Given the description of an element on the screen output the (x, y) to click on. 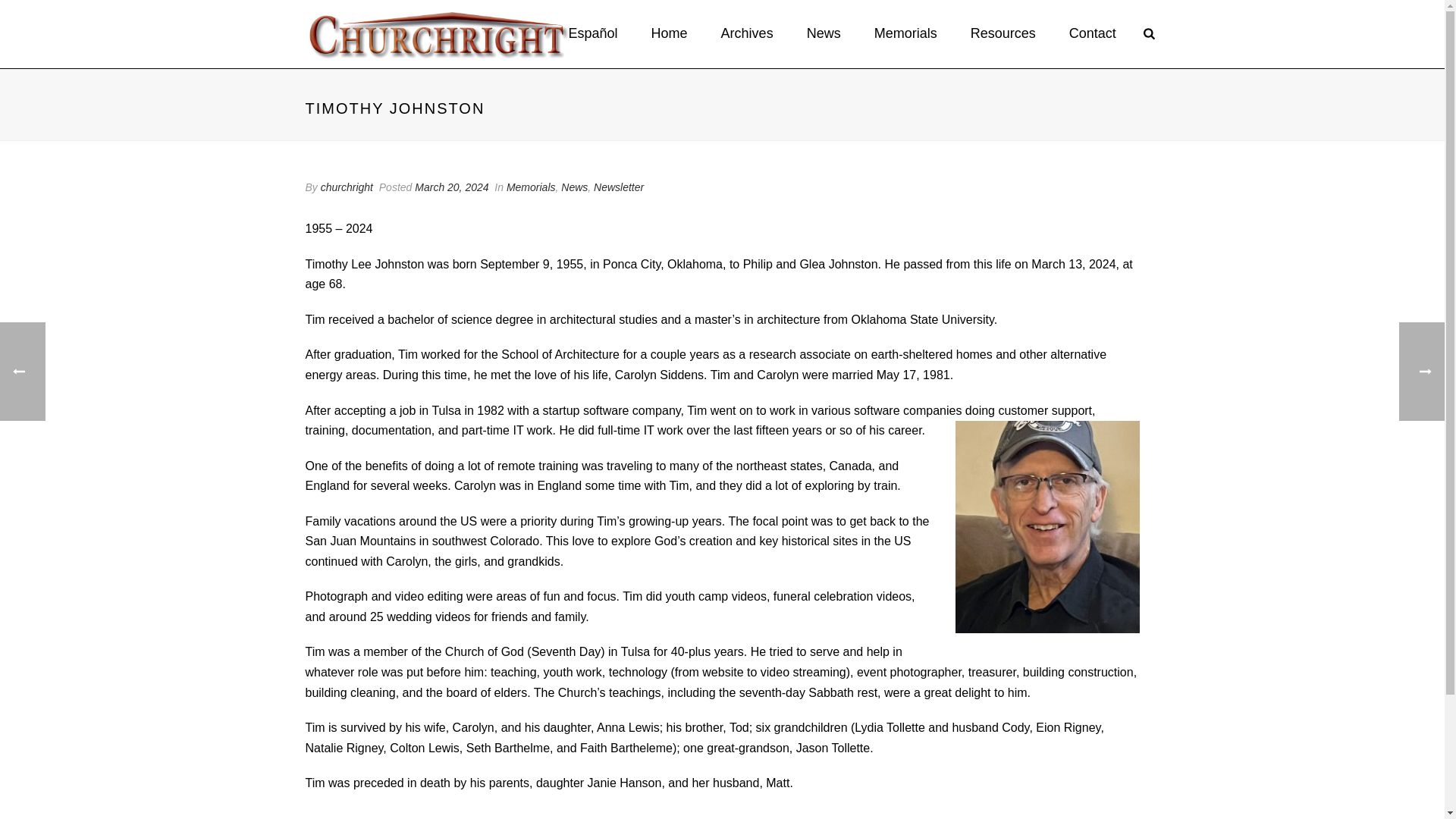
Memorials (905, 32)
churchright (346, 186)
March 20, 2024 (450, 186)
Archives (747, 32)
News (824, 32)
Home (669, 32)
Archives (747, 32)
Contact (1092, 32)
Resources (1003, 32)
Home (669, 32)
